Given the description of an element on the screen output the (x, y) to click on. 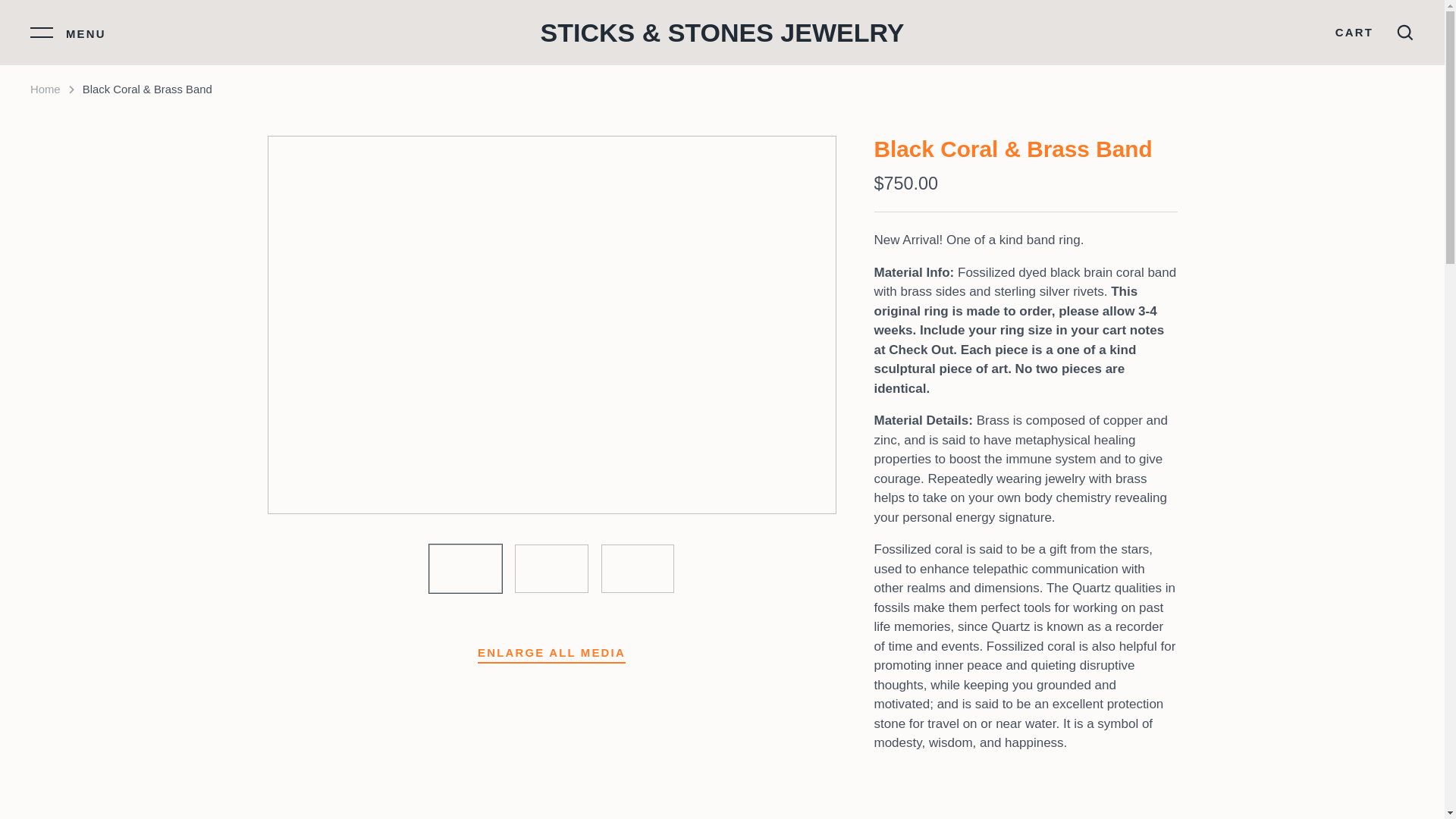
SEARCH (1404, 32)
